Given the description of an element on the screen output the (x, y) to click on. 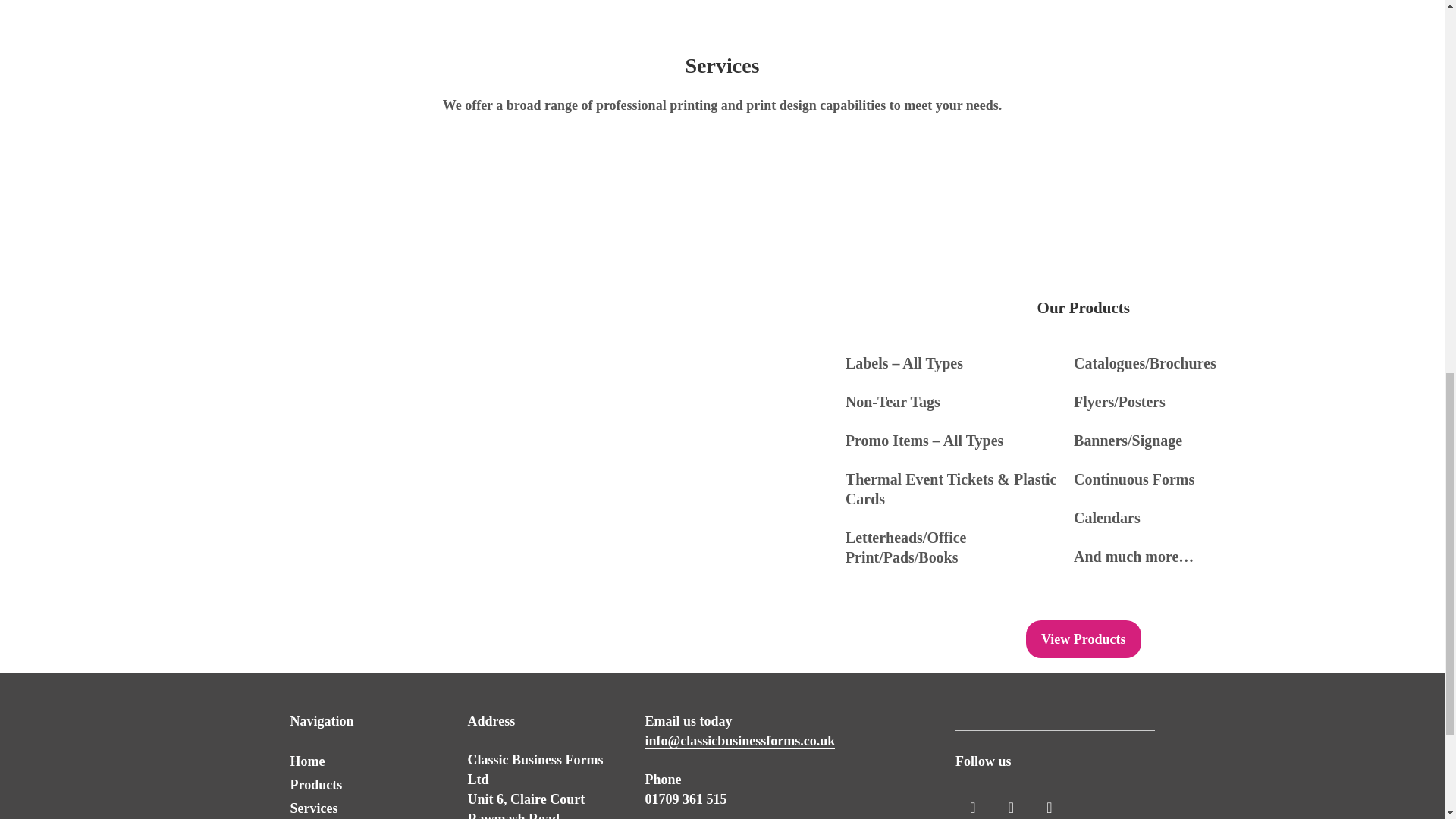
Services (313, 807)
View Products (1083, 639)
Products (315, 784)
Home (306, 761)
